Given the description of an element on the screen output the (x, y) to click on. 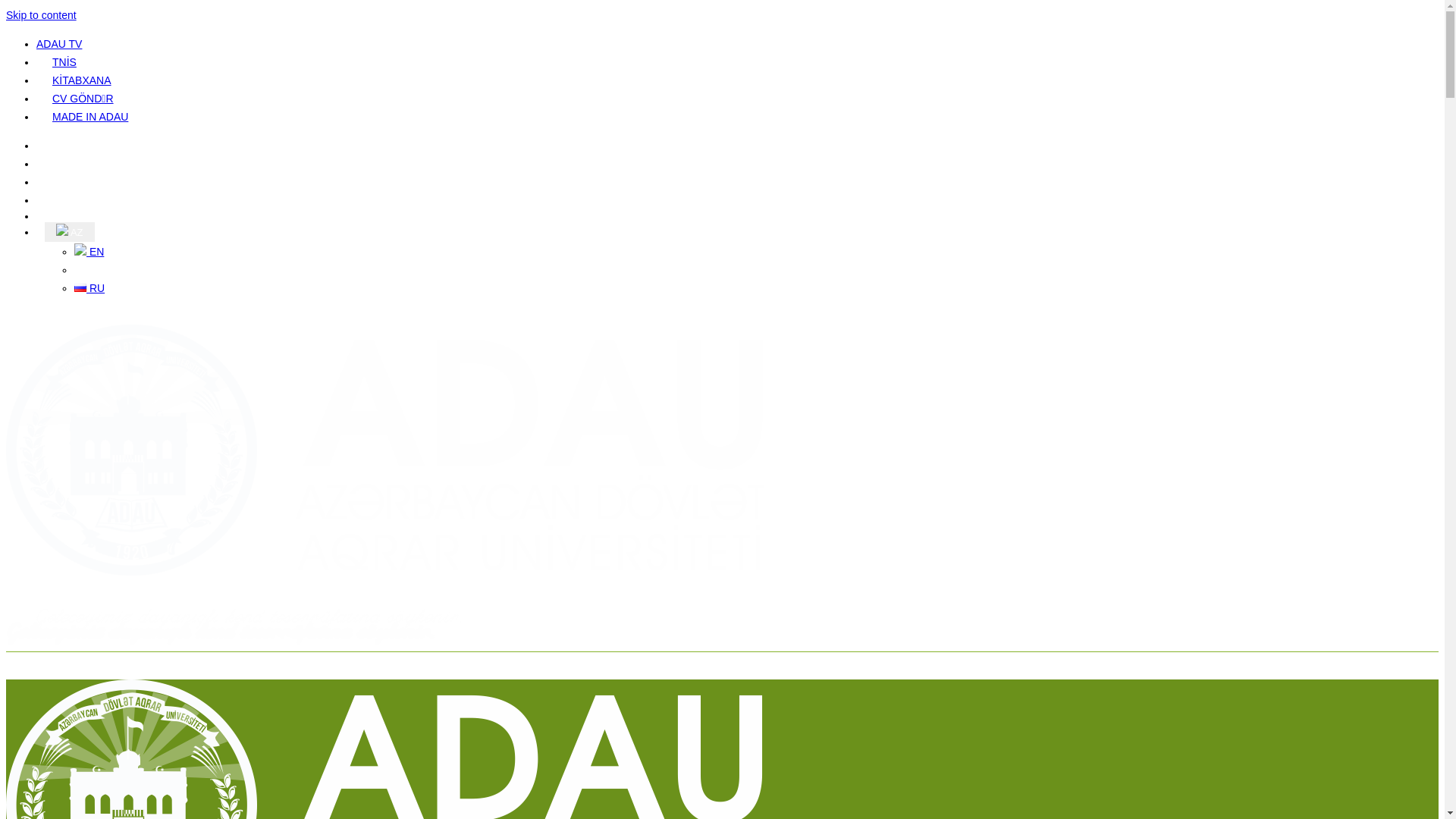
MADE IN ADAU Element type: text (90, 116)
Skip to content Element type: text (41, 15)
ADAU TV Element type: text (58, 43)
AZ Element type: text (69, 231)
EN Element type: text (88, 251)
RU Element type: text (89, 288)
